Given the description of an element on the screen output the (x, y) to click on. 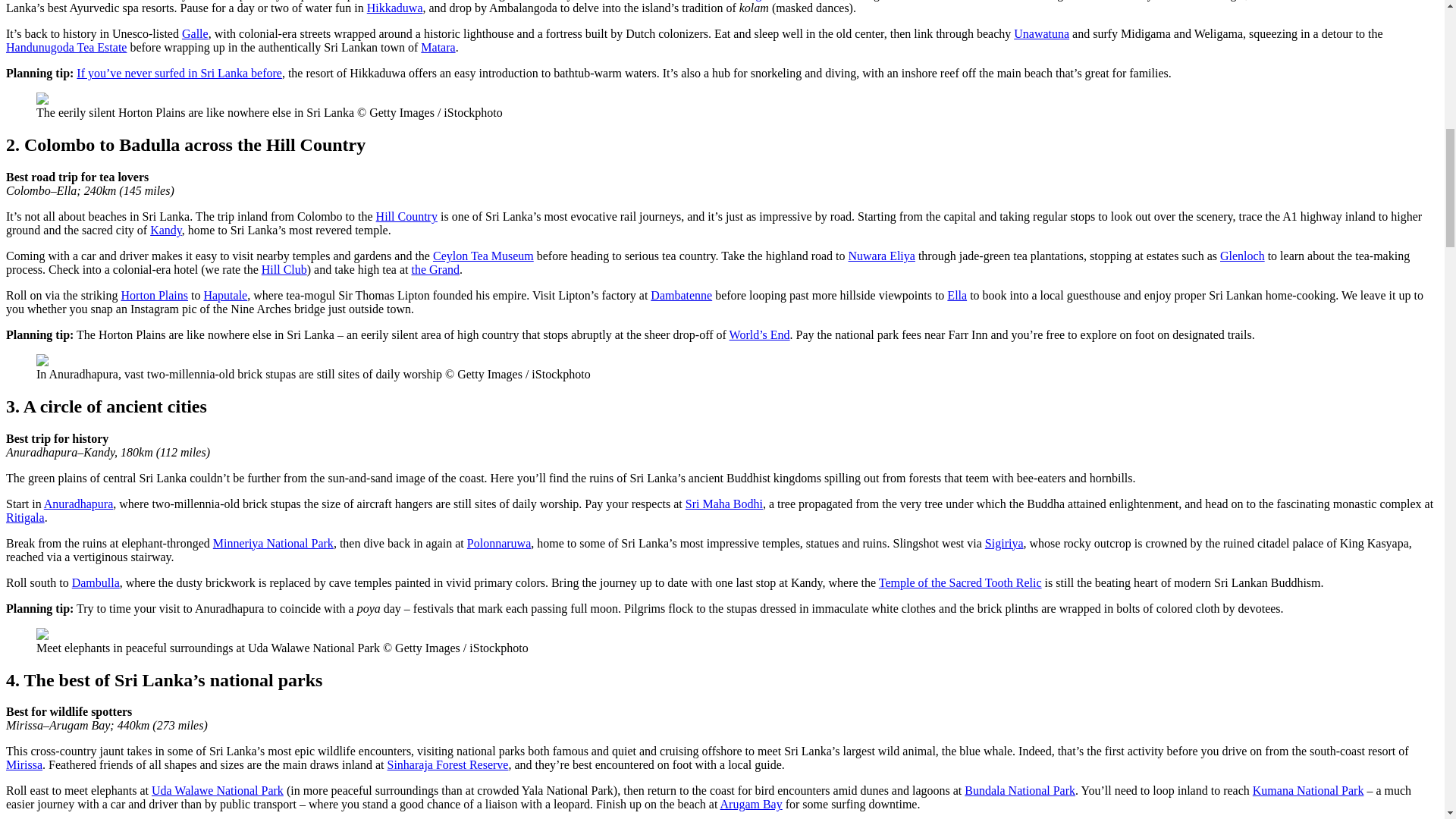
Brief Garden (1097, 0)
Hikkaduwa (394, 7)
Galle (195, 33)
Handunugoda Tea Estate (65, 47)
Unawatuna (1040, 33)
